Given the description of an element on the screen output the (x, y) to click on. 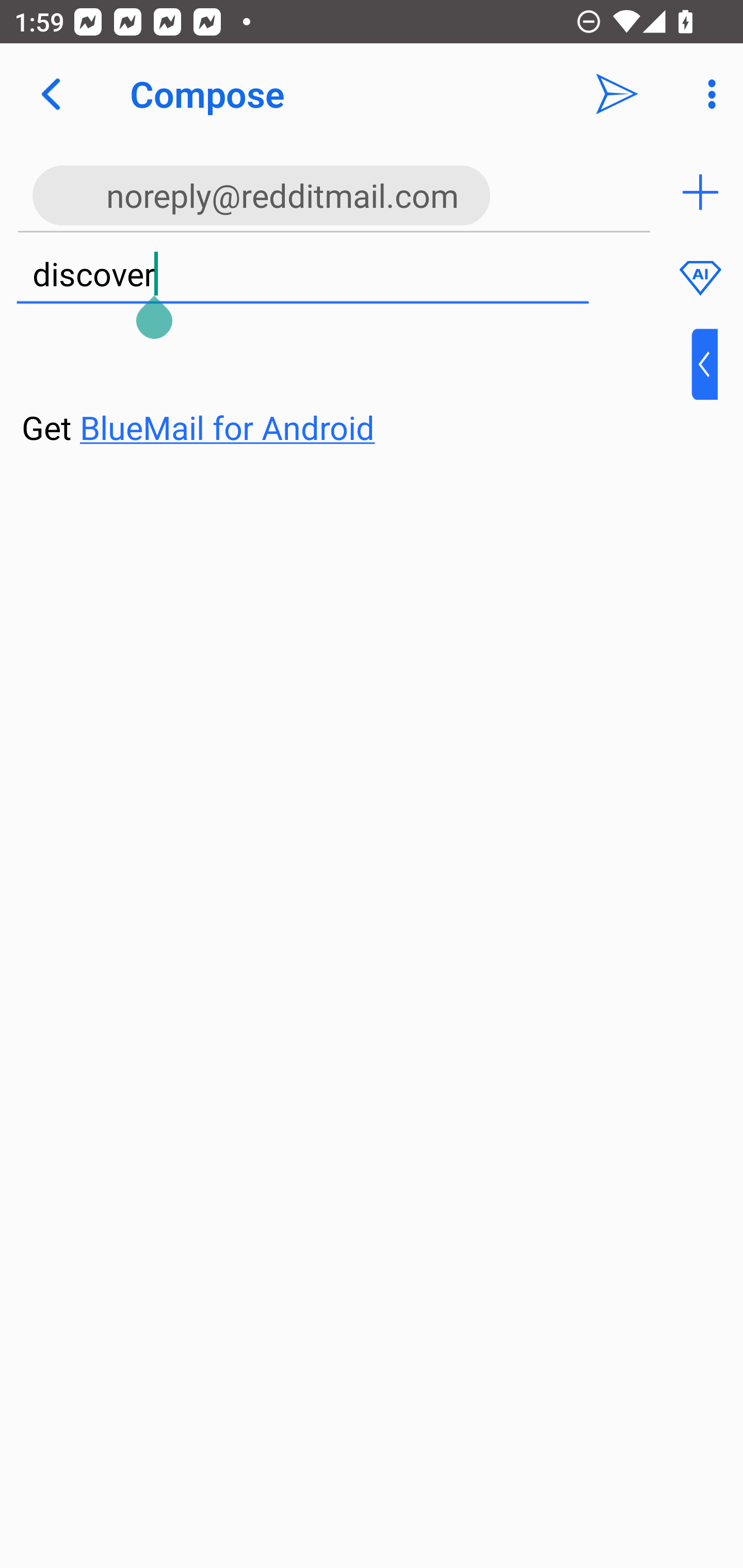
Navigate up (50, 93)
Send (616, 93)
More Options (706, 93)
<noreply@redditmail.com>,  (334, 191)
Add recipient (To) (699, 191)
discover (302, 274)


⁣Get BlueMail for Android ​ (355, 390)
